Given the description of an element on the screen output the (x, y) to click on. 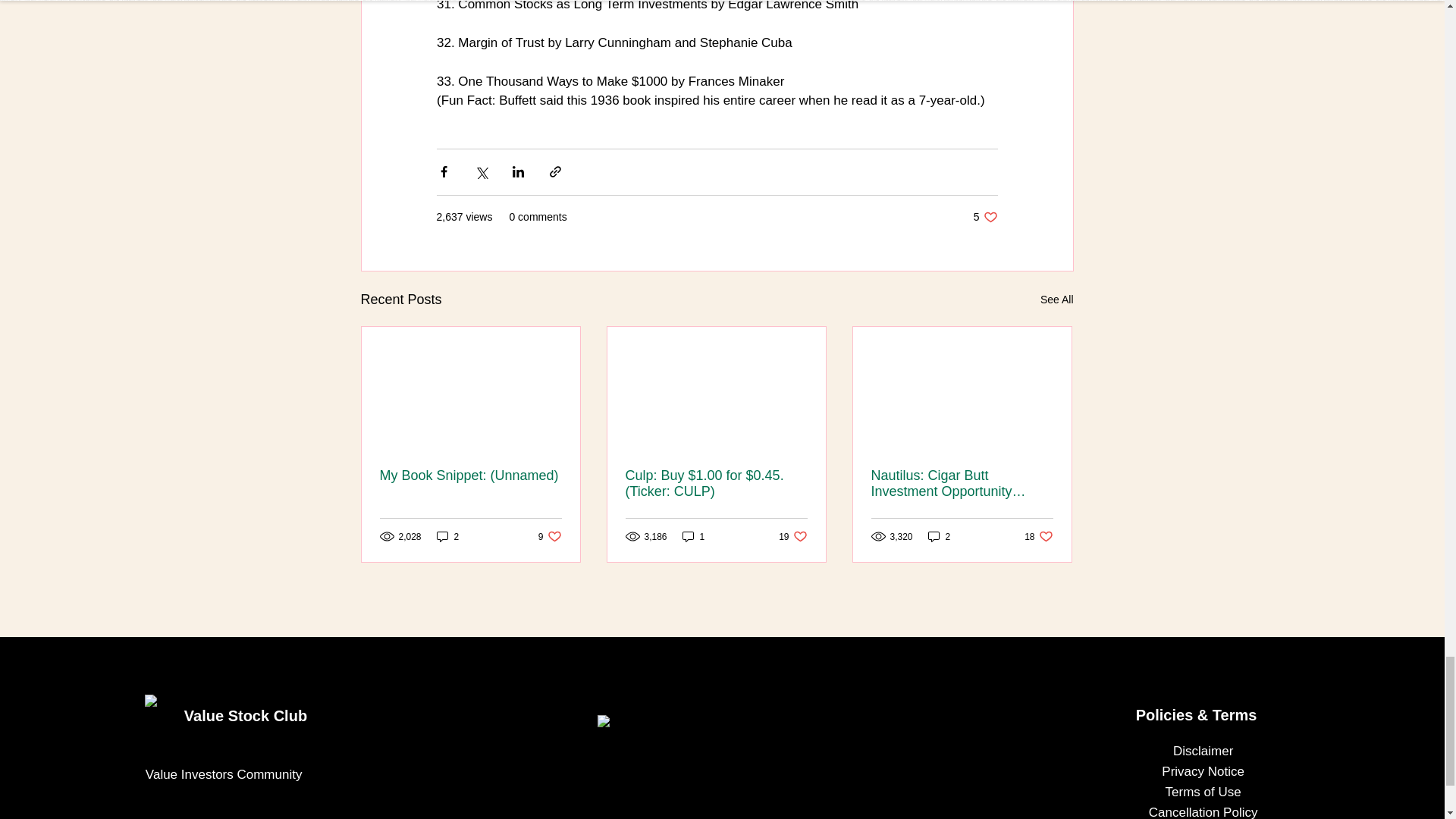
2 (448, 536)
1 (693, 536)
Terms of Use (1203, 791)
See All (1057, 300)
2 (792, 536)
Value Stock Club (939, 536)
Disclaimer (1038, 536)
Privacy Notice (245, 715)
Cancellation Policy (1203, 750)
